Given the description of an element on the screen output the (x, y) to click on. 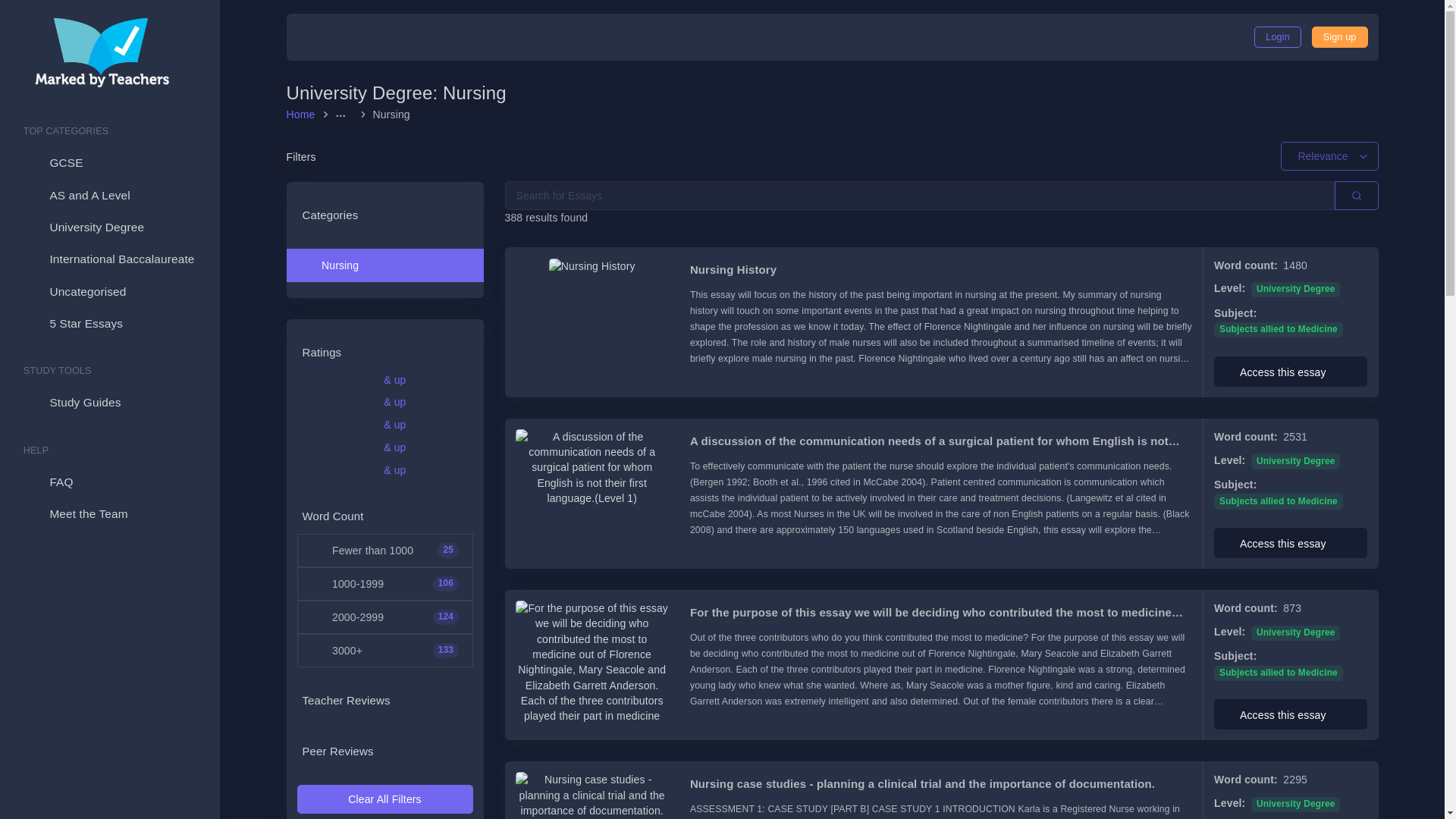
Meet the Team (109, 513)
GCSE (109, 163)
AS and A Level (109, 195)
International Baccalaureate (109, 259)
Access this essay (1290, 371)
Home (302, 114)
GCSE (109, 163)
Sign Up (1339, 36)
International Baccalaureate (109, 259)
Meet the Team (109, 513)
Uncategorised (109, 291)
Nursing History (941, 269)
5 Star Essays (109, 323)
Home (302, 114)
